Given the description of an element on the screen output the (x, y) to click on. 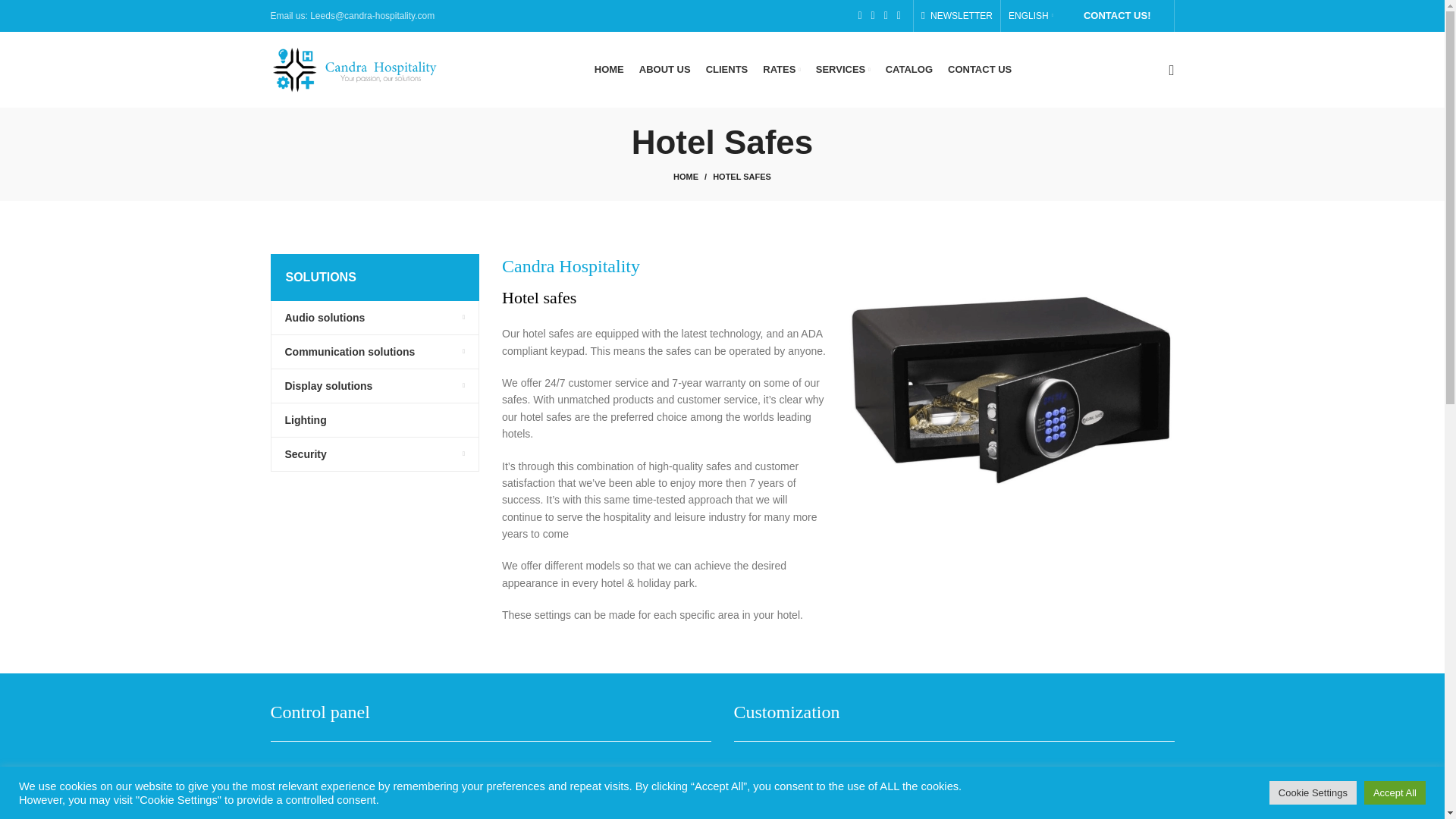
Communication solutions (374, 351)
ABOUT US (664, 69)
CATALOG (908, 69)
HOME (692, 176)
Audio solutions (374, 317)
NEWSLETTER (957, 15)
CLIENTS (726, 69)
hotel-safe (1010, 379)
English (1031, 15)
SERVICES (842, 69)
RATES (781, 69)
CONTACT US! (1117, 15)
ENGLISH (1031, 15)
CONTACT US (979, 69)
HOME (608, 69)
